Given the description of an element on the screen output the (x, y) to click on. 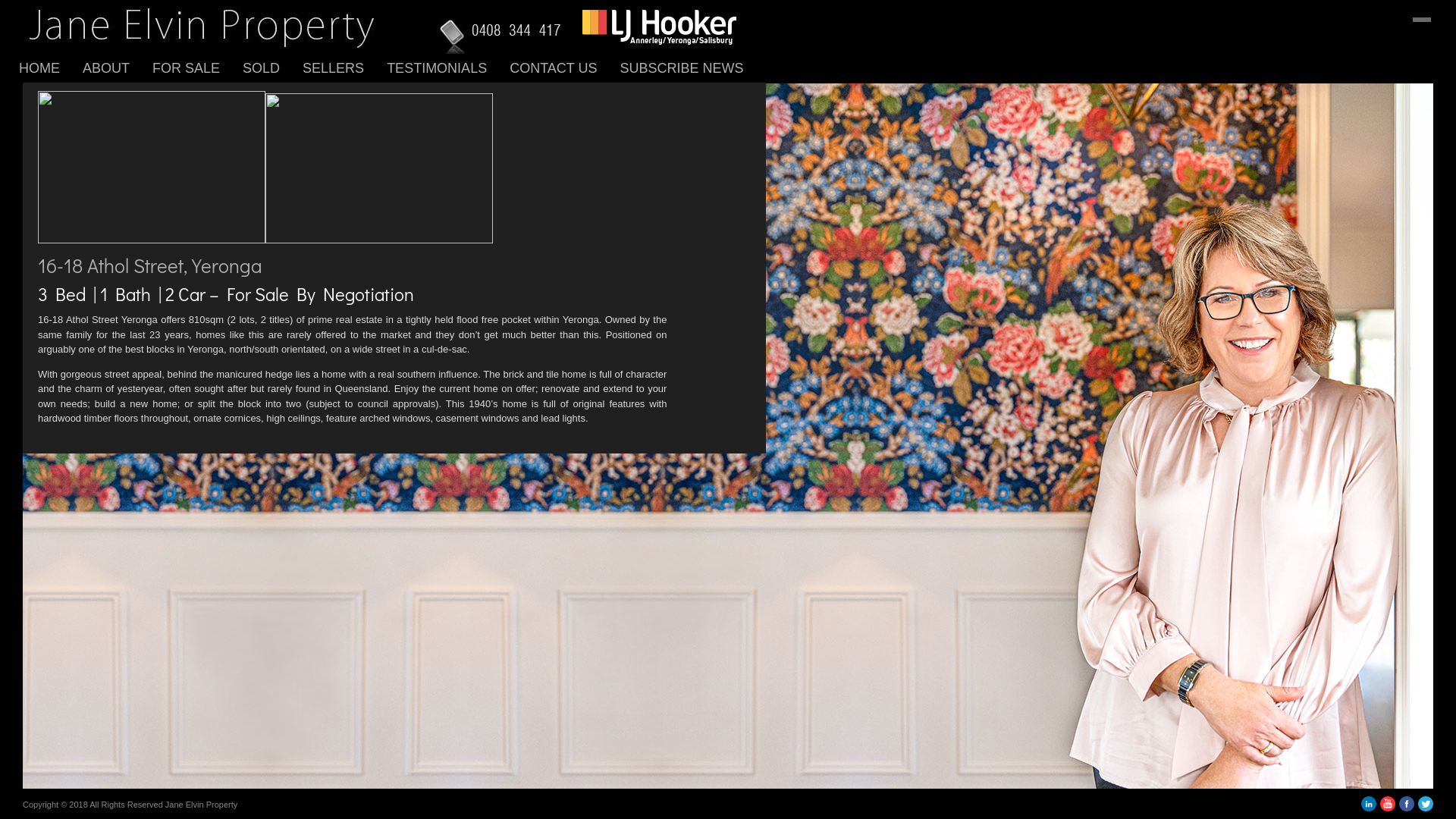
Youtube Element type: hover (1387, 807)
Twitter Element type: hover (1425, 807)
Linkedin Element type: hover (1368, 807)
HOME Element type: text (50, 67)
FOR SALE Element type: text (197, 67)
SOLD Element type: text (272, 67)
16-18 Athol Street, Yeronga Element type: text (149, 264)
SELLERS Element type: text (344, 67)
TESTIMONIALS Element type: text (447, 67)
ABOUT Element type: text (117, 67)
SUBSCRIBE NEWS Element type: text (693, 67)
CONTACT US Element type: text (564, 67)
Facebook Element type: hover (1406, 807)
